Given the description of an element on the screen output the (x, y) to click on. 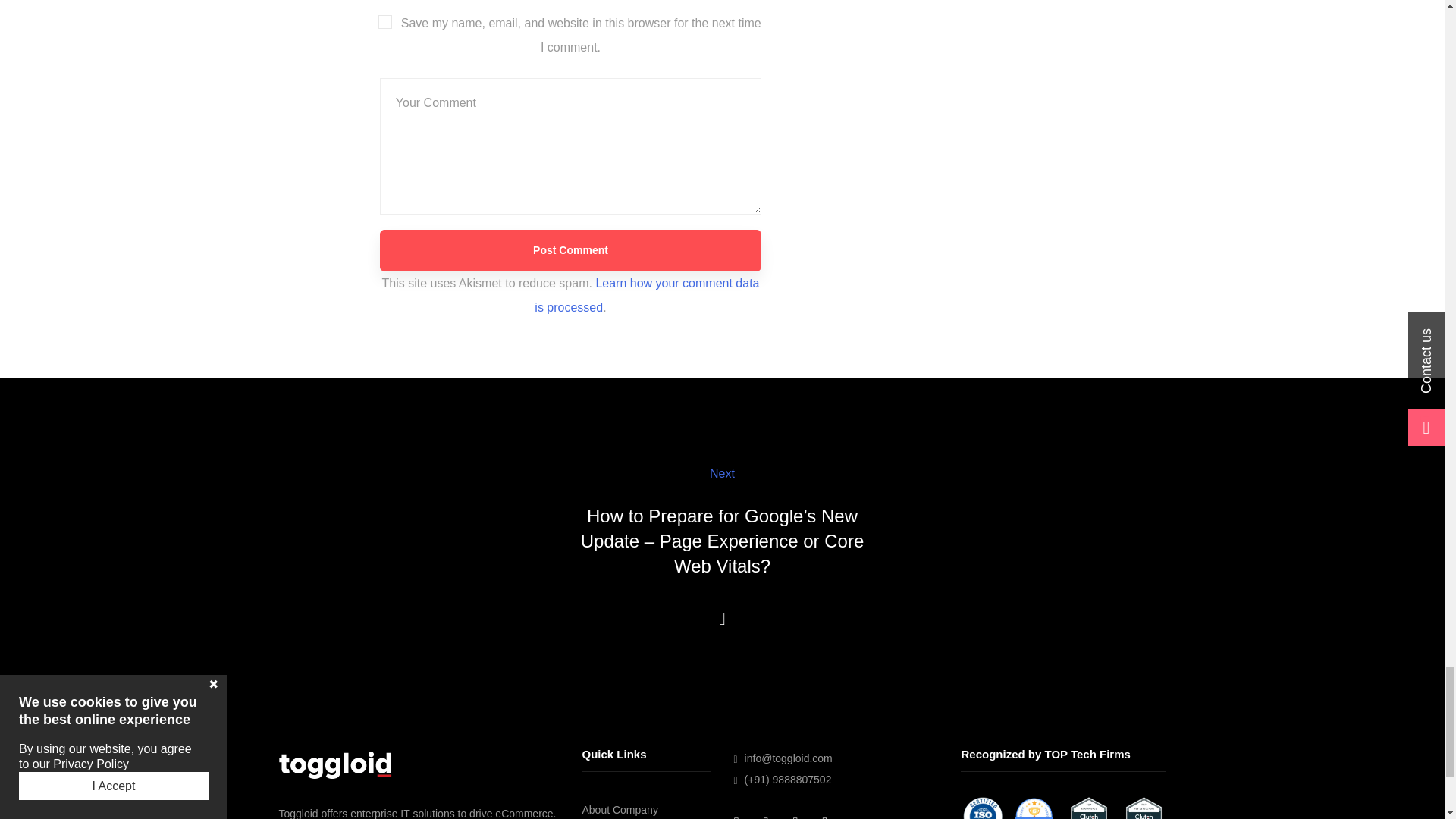
yes (385, 22)
Post Comment (570, 250)
